Given the description of an element on the screen output the (x, y) to click on. 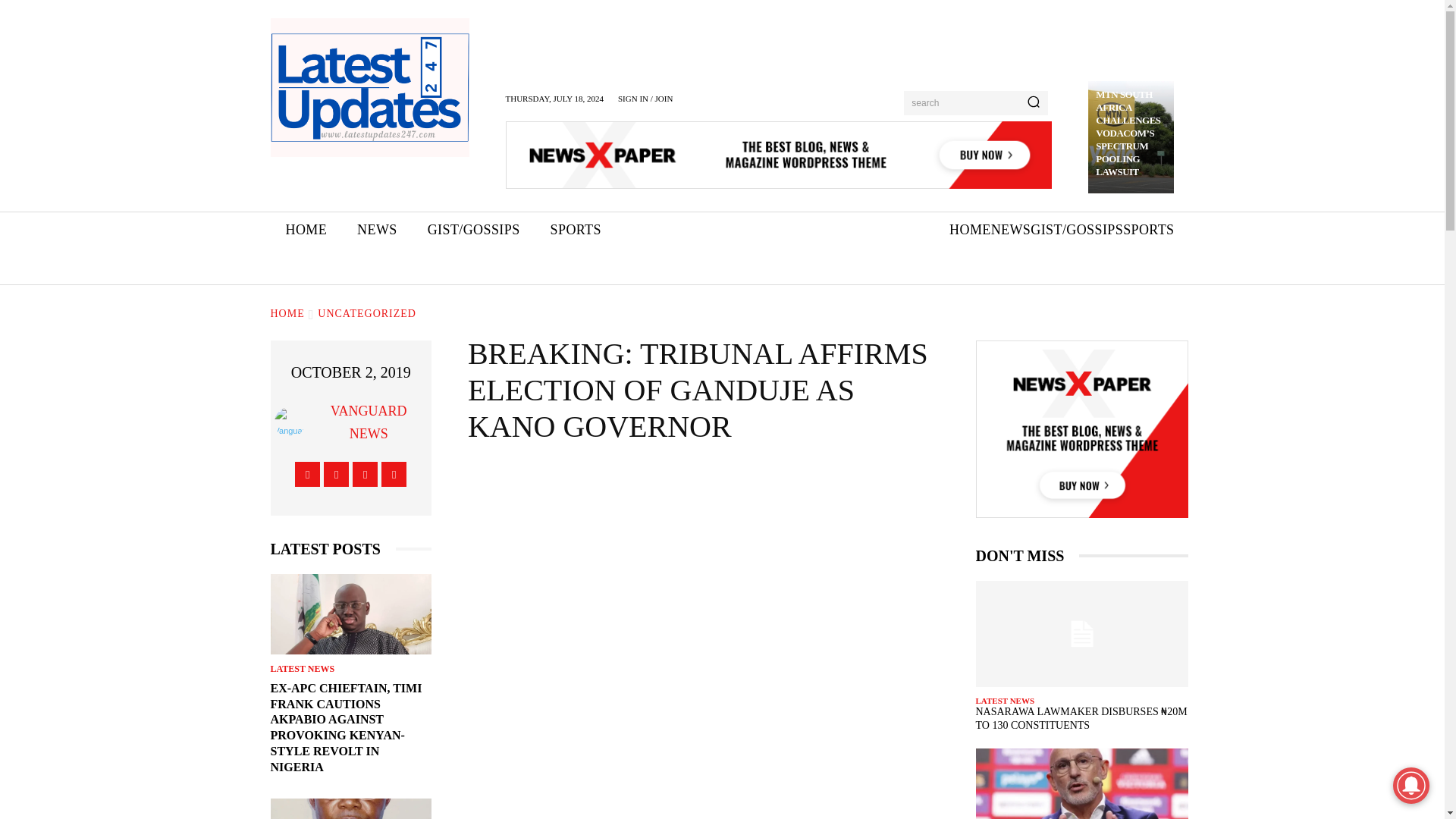
Instagram (336, 473)
HOME (970, 229)
HOME (286, 313)
VANGUARD NEWS (369, 422)
SPORTS (575, 229)
LATEST NEWS (301, 668)
HOME (305, 229)
Youtube (393, 473)
Twitter (364, 473)
NEWS (1010, 229)
Vanguard News (294, 422)
NEWS (377, 229)
Facebook (307, 473)
SPORTS (1147, 229)
